Given the description of an element on the screen output the (x, y) to click on. 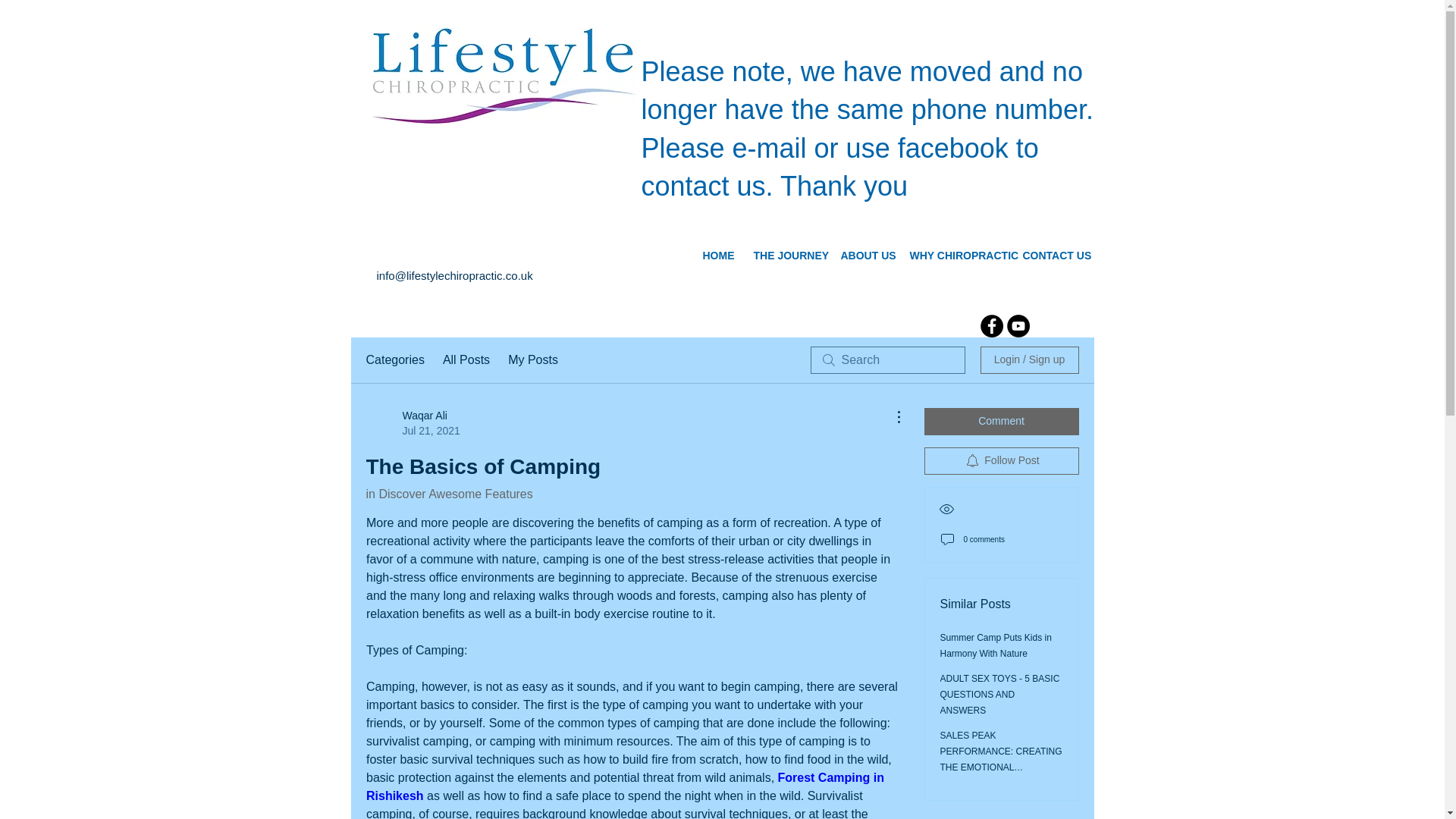
THE PLAN (477, 58)
THE JOURNEY (784, 255)
ADULT SEX TOYS - 5 BASIC QUESTIONS AND ANSWERS (999, 694)
WHY CHIROPRACTIC (954, 255)
Forest Camping in Rishikesh (625, 786)
ABOUT US (863, 255)
Follow Post (1000, 461)
Comment (1000, 420)
in Discover Awesome Features (448, 493)
HOME (716, 255)
CONTACT US (1050, 255)
Summer Camp Puts Kids in Harmony With Nature (995, 645)
My Posts (532, 360)
All Posts (465, 360)
